Given the description of an element on the screen output the (x, y) to click on. 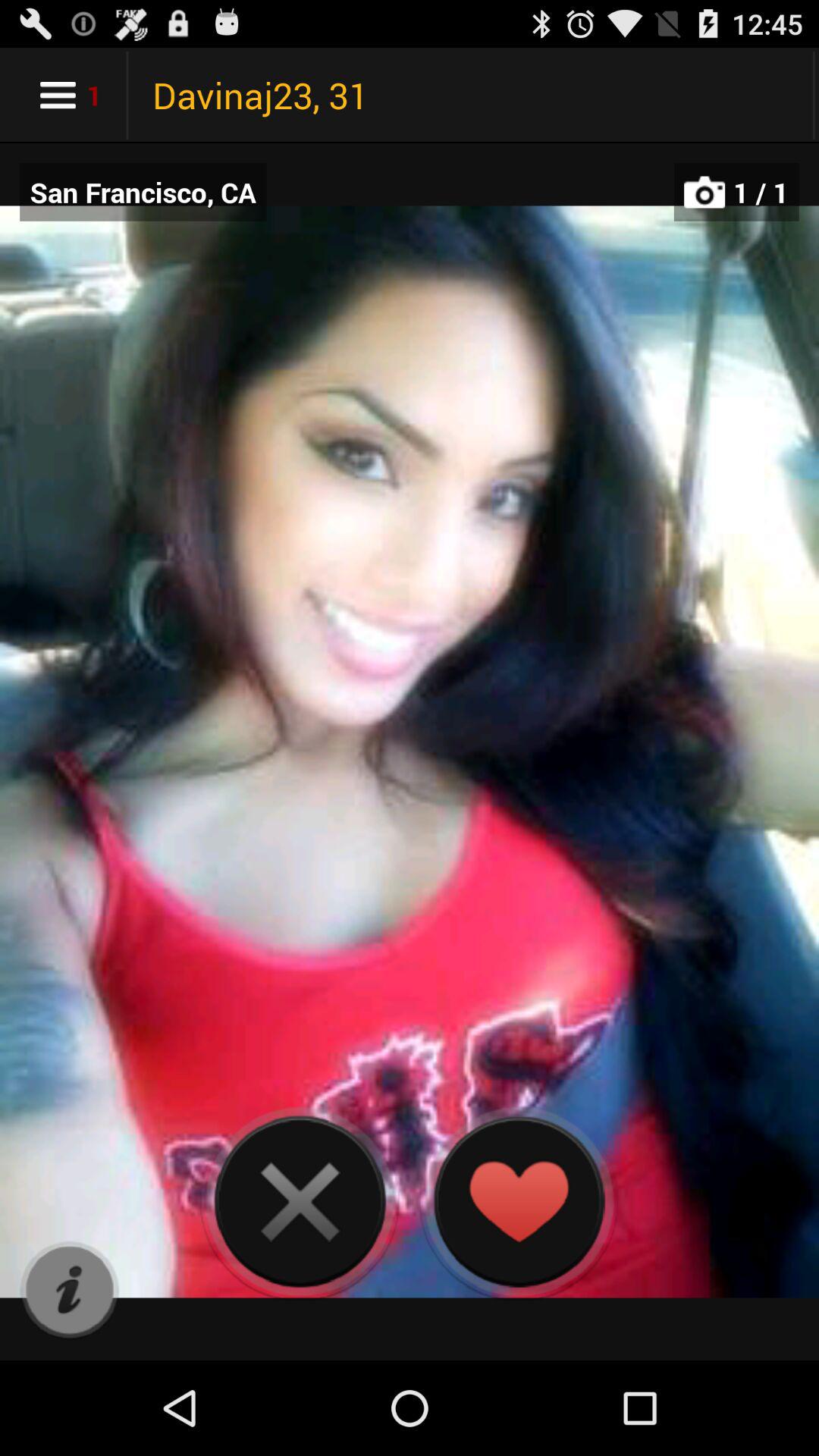
dislike picture (299, 1200)
